Given the description of an element on the screen output the (x, y) to click on. 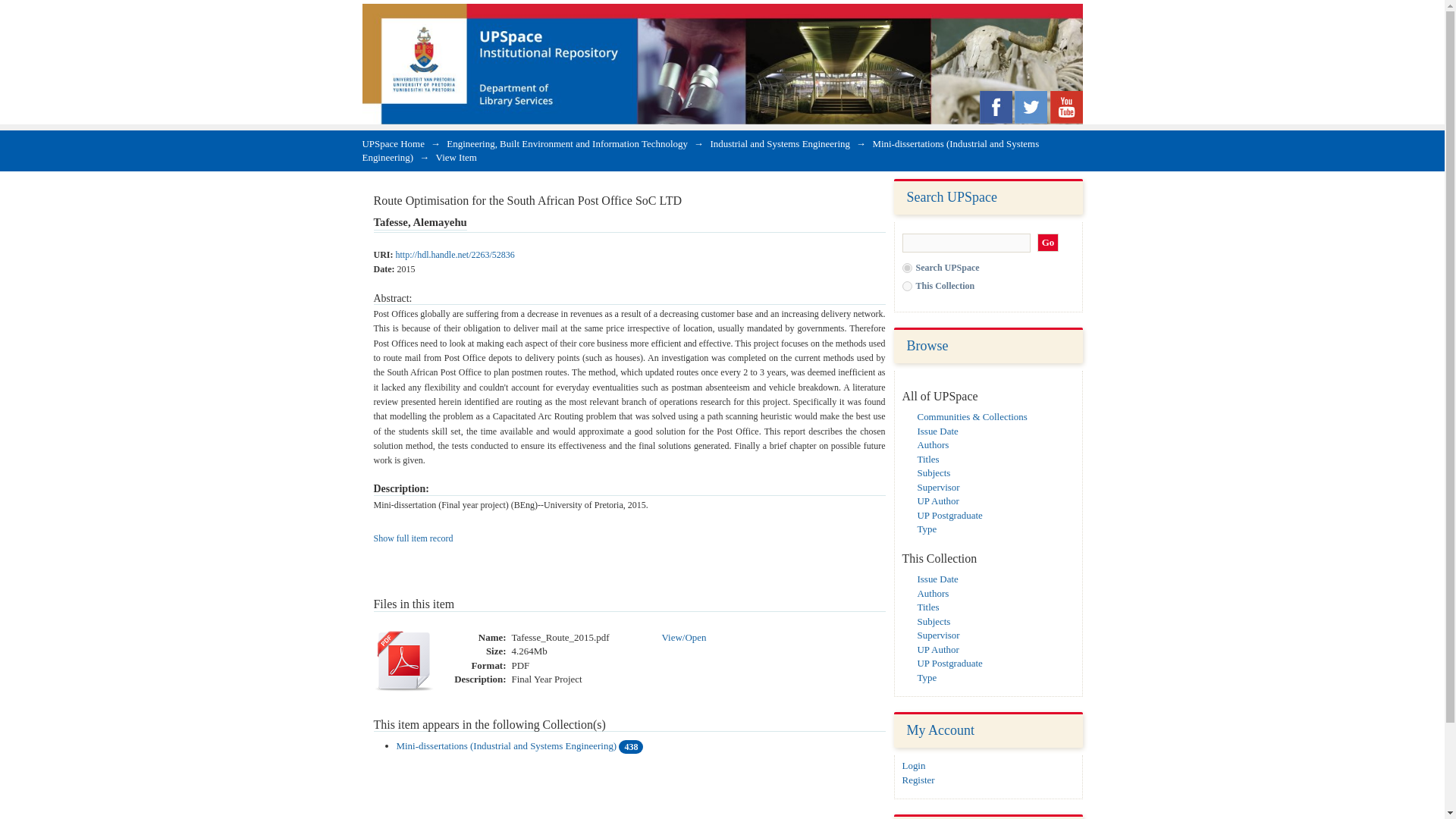
Go (1047, 242)
UP Author (938, 649)
Go (1047, 242)
UP Postgraduate (949, 663)
Titles (928, 459)
Issue Date (937, 578)
UP Postgraduate (949, 514)
Subjects (933, 472)
Subjects (933, 621)
Type (927, 677)
UPSpace Home (393, 143)
Authors (933, 593)
Industrial and Systems Engineering (780, 143)
Supervisor (938, 487)
Register (918, 779)
